Given the description of an element on the screen output the (x, y) to click on. 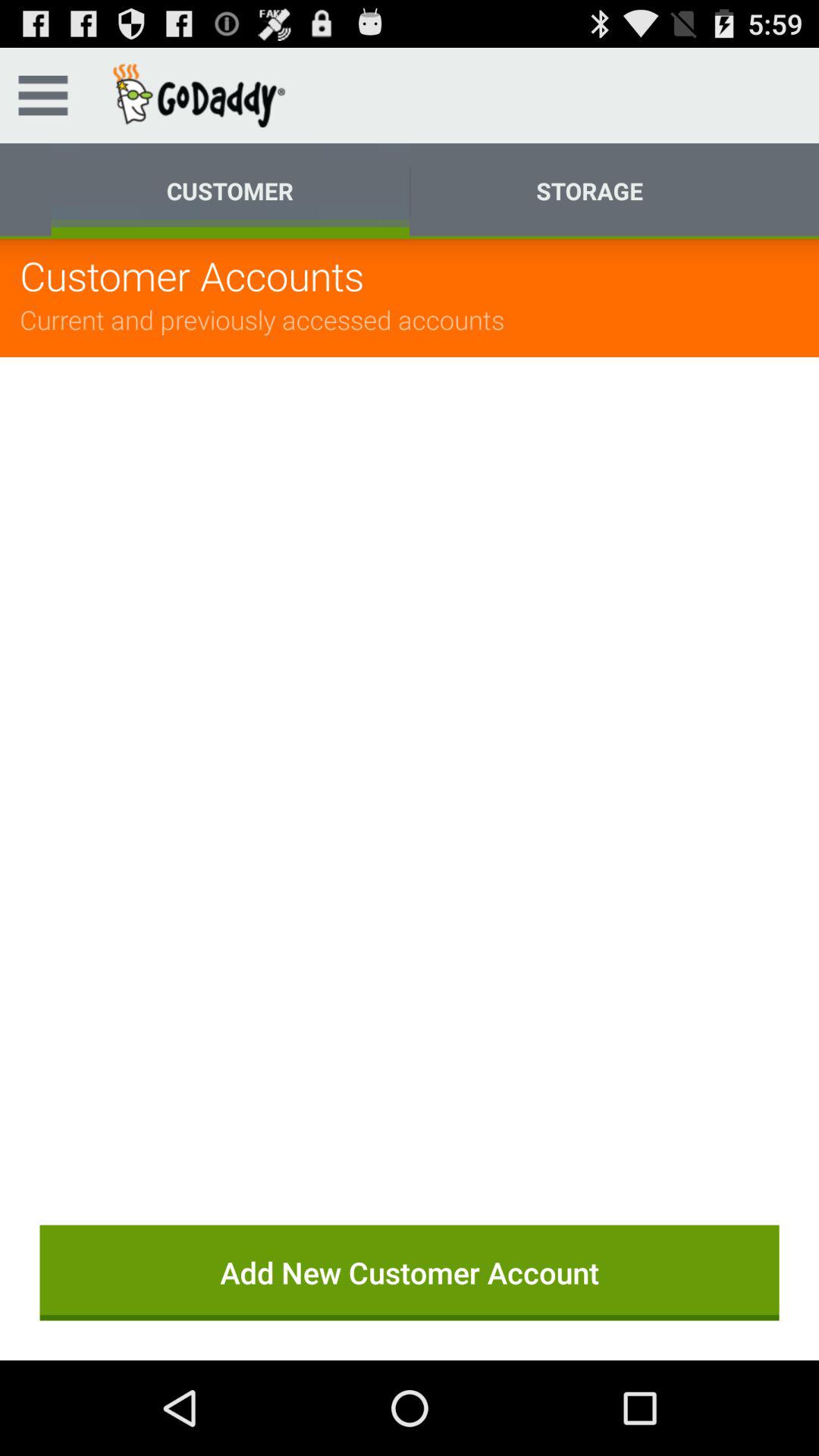
flip to the add new customer item (409, 1272)
